Given the description of an element on the screen output the (x, y) to click on. 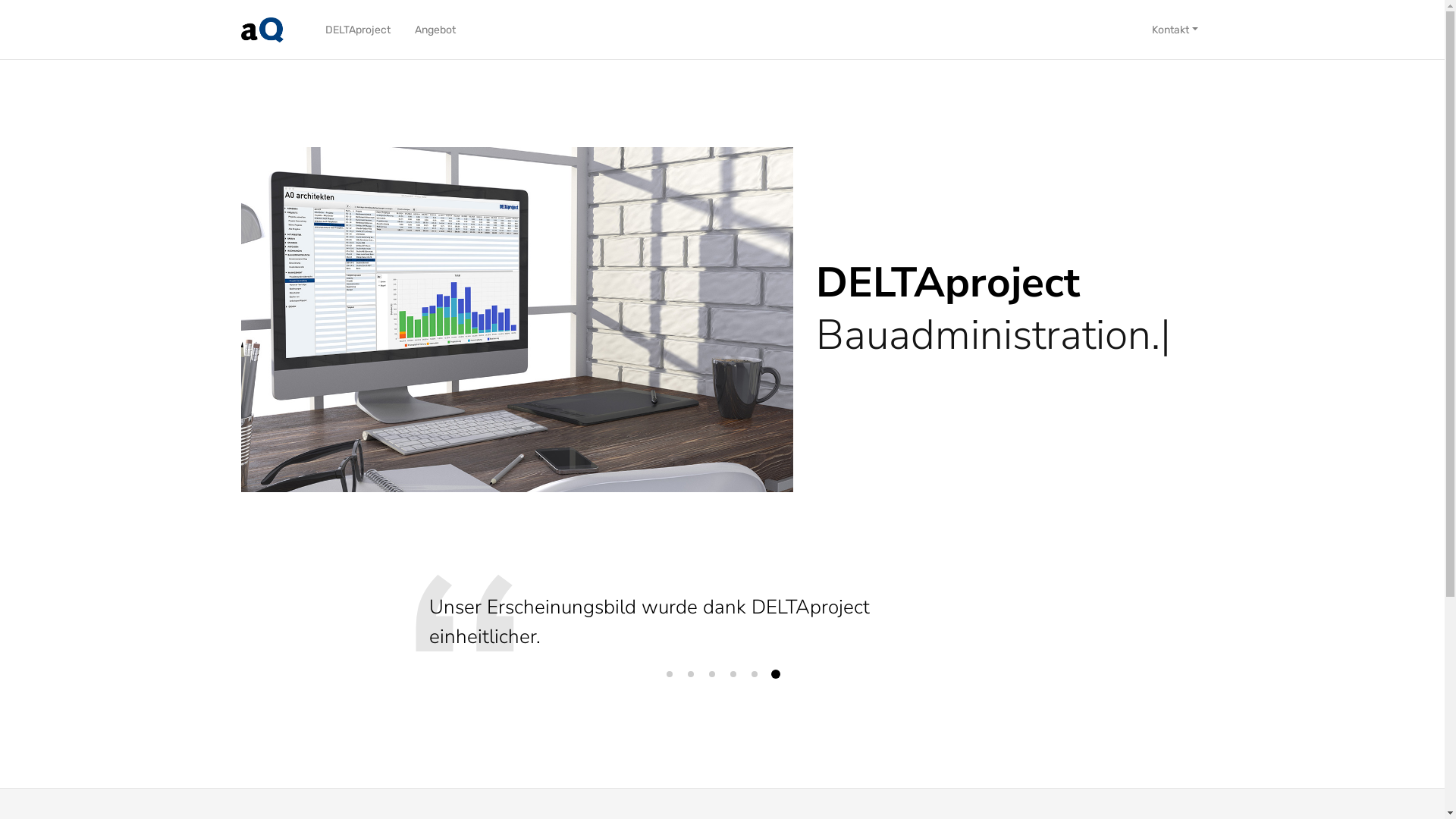
DELTAproject Element type: text (357, 29)
Angebot Element type: text (434, 29)
Kontakt Element type: text (1174, 29)
